Given the description of an element on the screen output the (x, y) to click on. 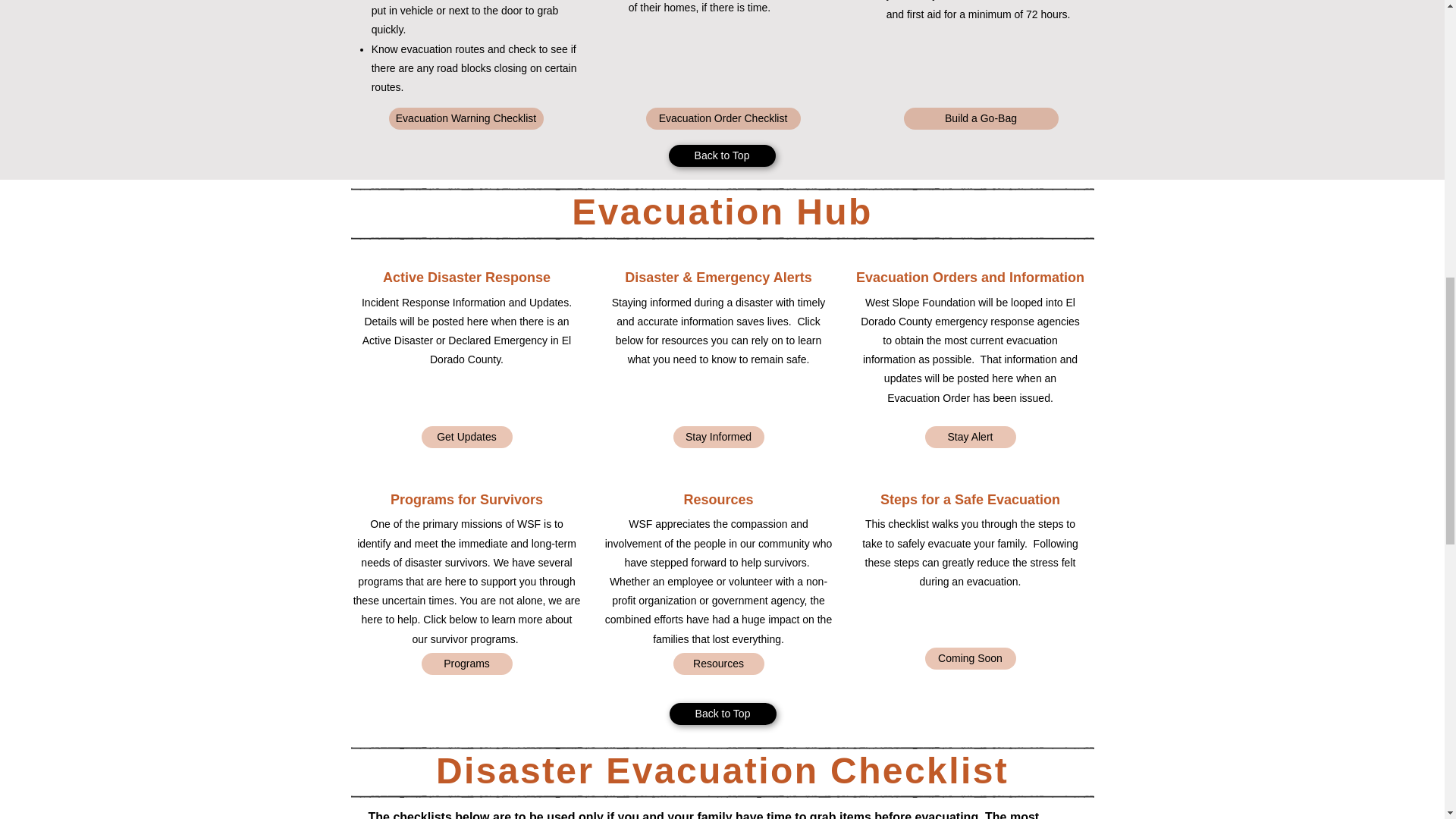
Build a Go-Bag (981, 118)
Evacuation Order Checklist (723, 118)
Evacuation Warning Checklist (465, 118)
Back to Top (722, 155)
Get Updates (467, 436)
